Given the description of an element on the screen output the (x, y) to click on. 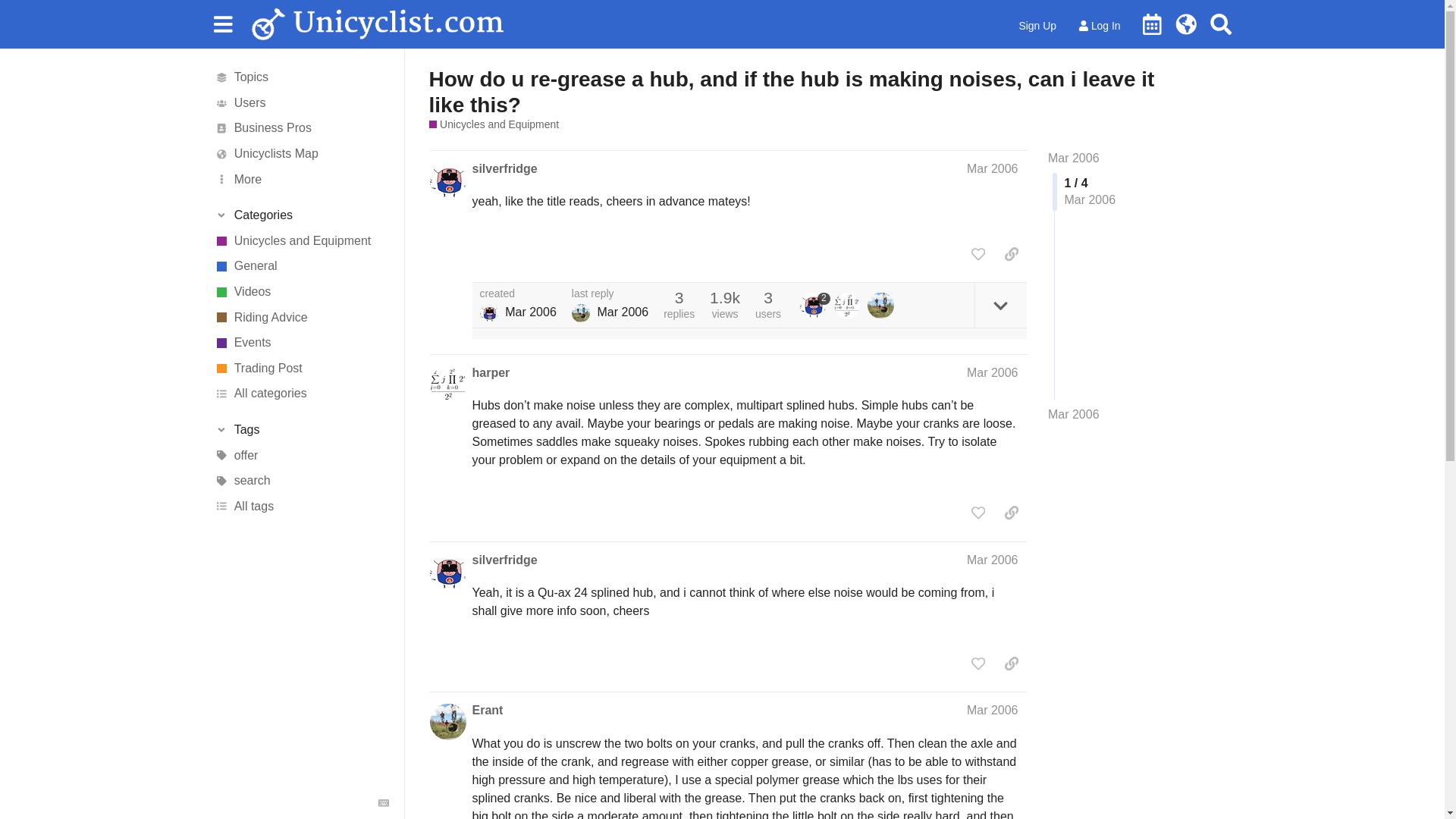
silverfridge (504, 168)
Mar 2006 (1073, 414)
Events (301, 343)
General (301, 266)
Mar 2006 (1073, 157)
Sidebar (222, 23)
More (301, 179)
Unicycles and Equipment (494, 124)
search (301, 481)
Riding Advice (301, 317)
All categories (301, 394)
Unicycle Calendar (1152, 23)
Unicyclists Map (301, 153)
Sign Up (1037, 25)
Users (301, 103)
